Given the description of an element on the screen output the (x, y) to click on. 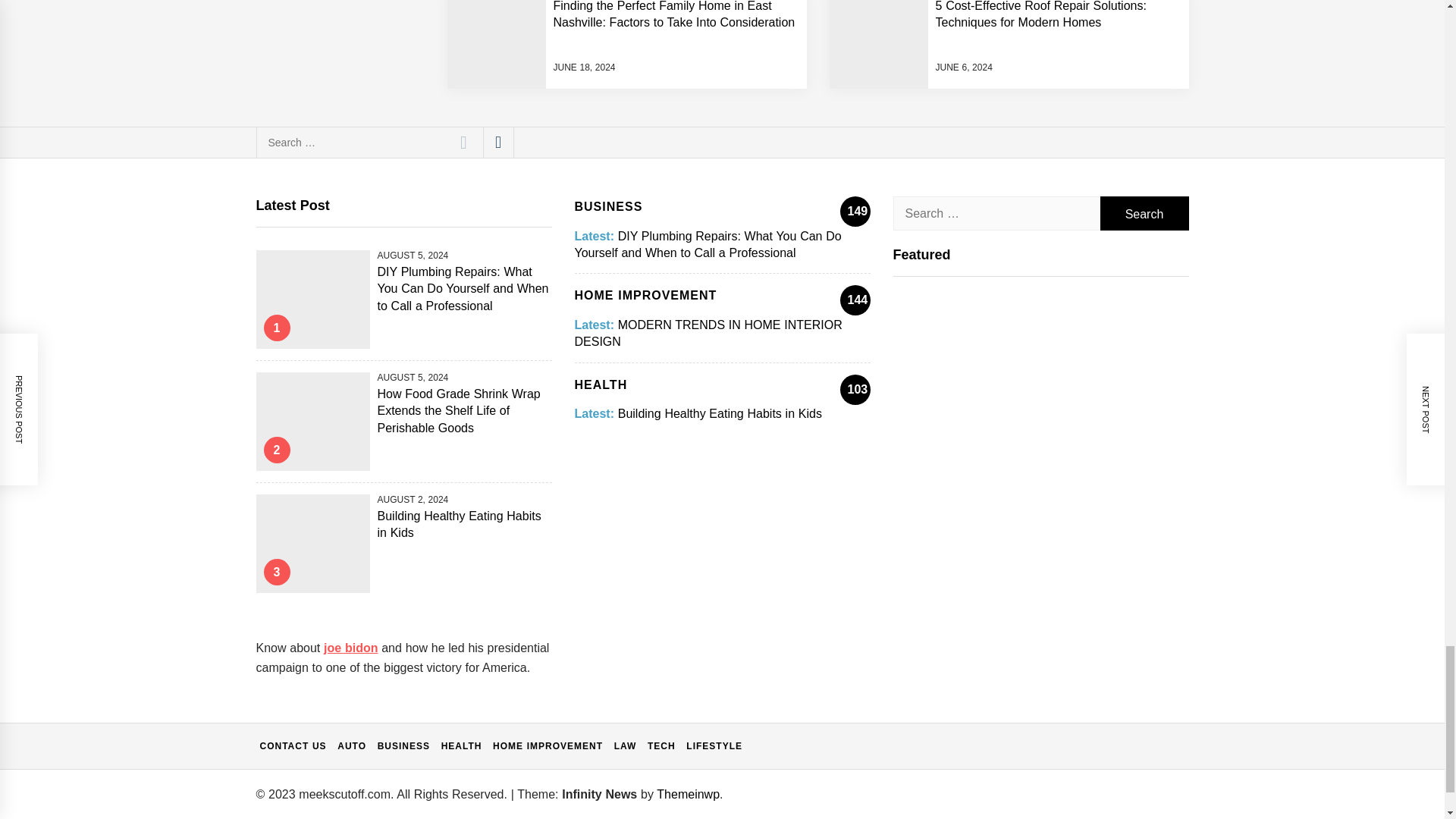
Search (462, 142)
Search (1143, 213)
Search (1143, 213)
Search (462, 142)
